Given the description of an element on the screen output the (x, y) to click on. 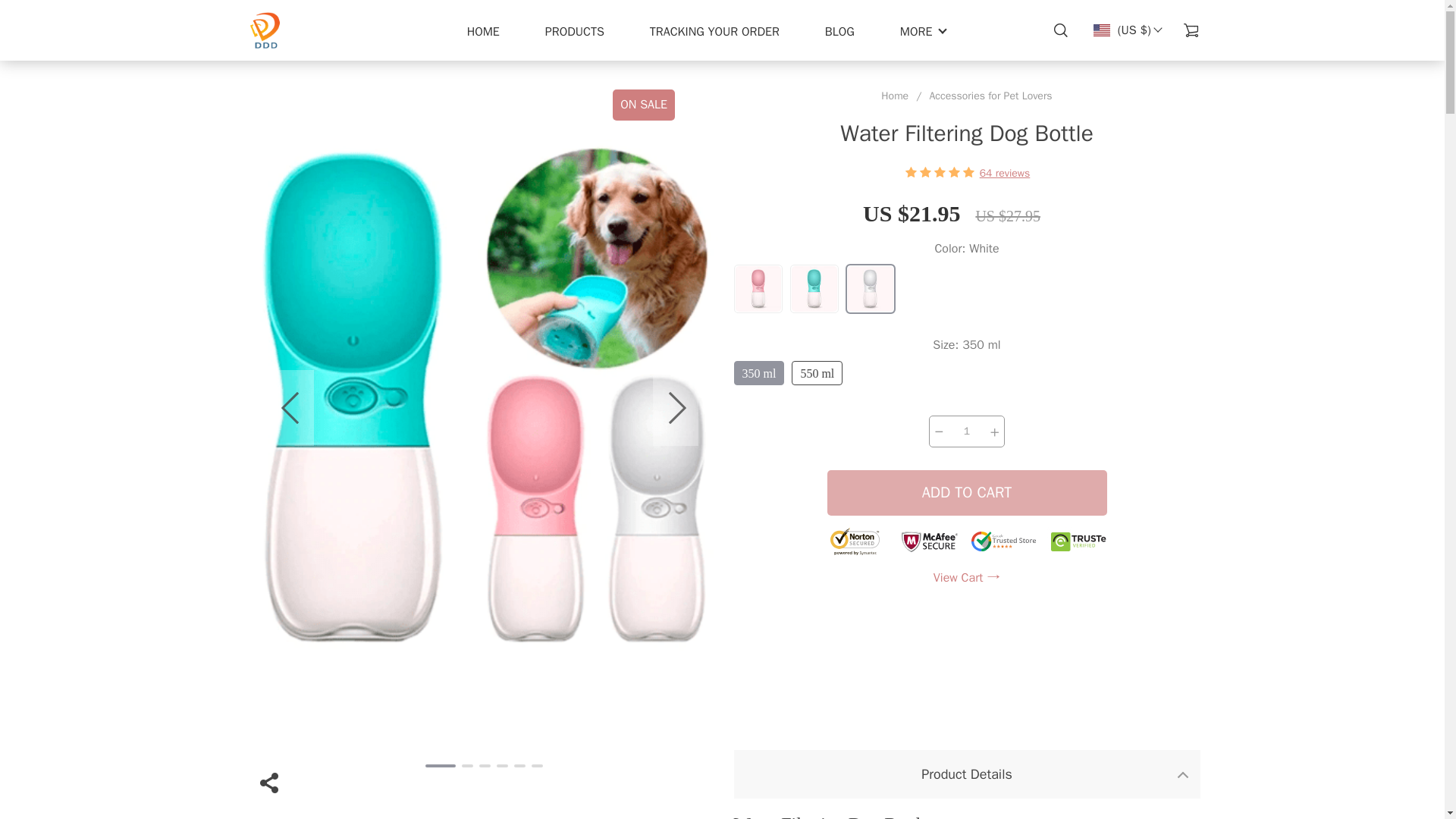
PRODUCTS (574, 31)
PayPal (966, 673)
Blue (814, 289)
HOME (483, 31)
Home (894, 96)
TRACKING YOUR ORDER (966, 316)
BLOG (713, 31)
1 (839, 31)
White (966, 431)
Accessories for Pet Lovers (870, 289)
Pink (989, 95)
ADD TO CART (757, 289)
